Given the description of an element on the screen output the (x, y) to click on. 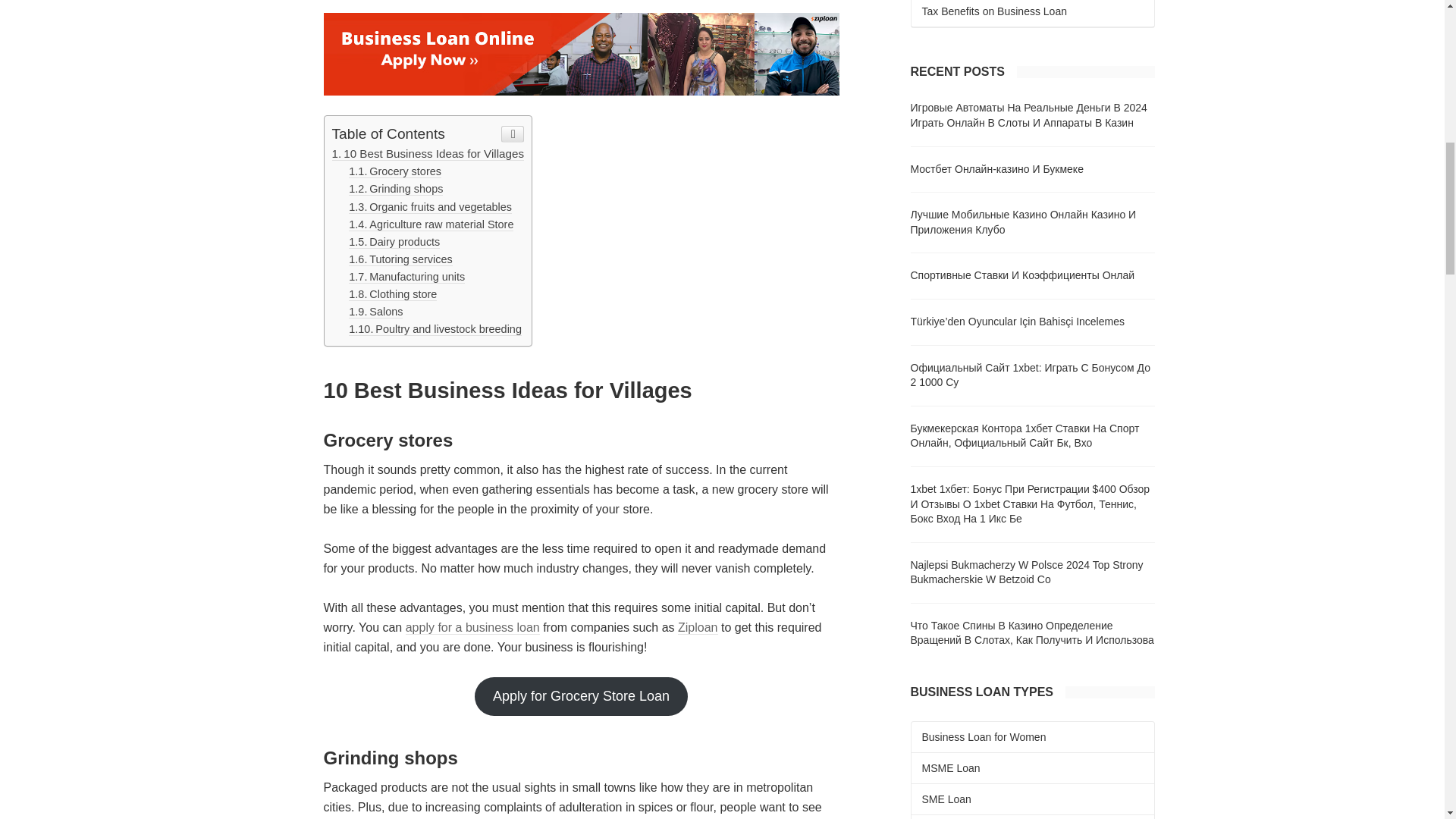
Dairy products (394, 241)
Apply for Grocery Store Loan (580, 696)
Grinding shops (395, 188)
Salons (376, 311)
Grocery stores (395, 171)
Tutoring services (400, 259)
Grocery stores (395, 171)
apply for a business loan (473, 627)
10 Best Business Ideas for Villages (427, 153)
10 Best Business Ideas for Villages (427, 153)
Organic fruits and vegetables (430, 206)
Organic fruits and vegetables (430, 206)
Agriculture raw material Store (431, 224)
Ziploan (697, 627)
Clothing store (392, 294)
